Given the description of an element on the screen output the (x, y) to click on. 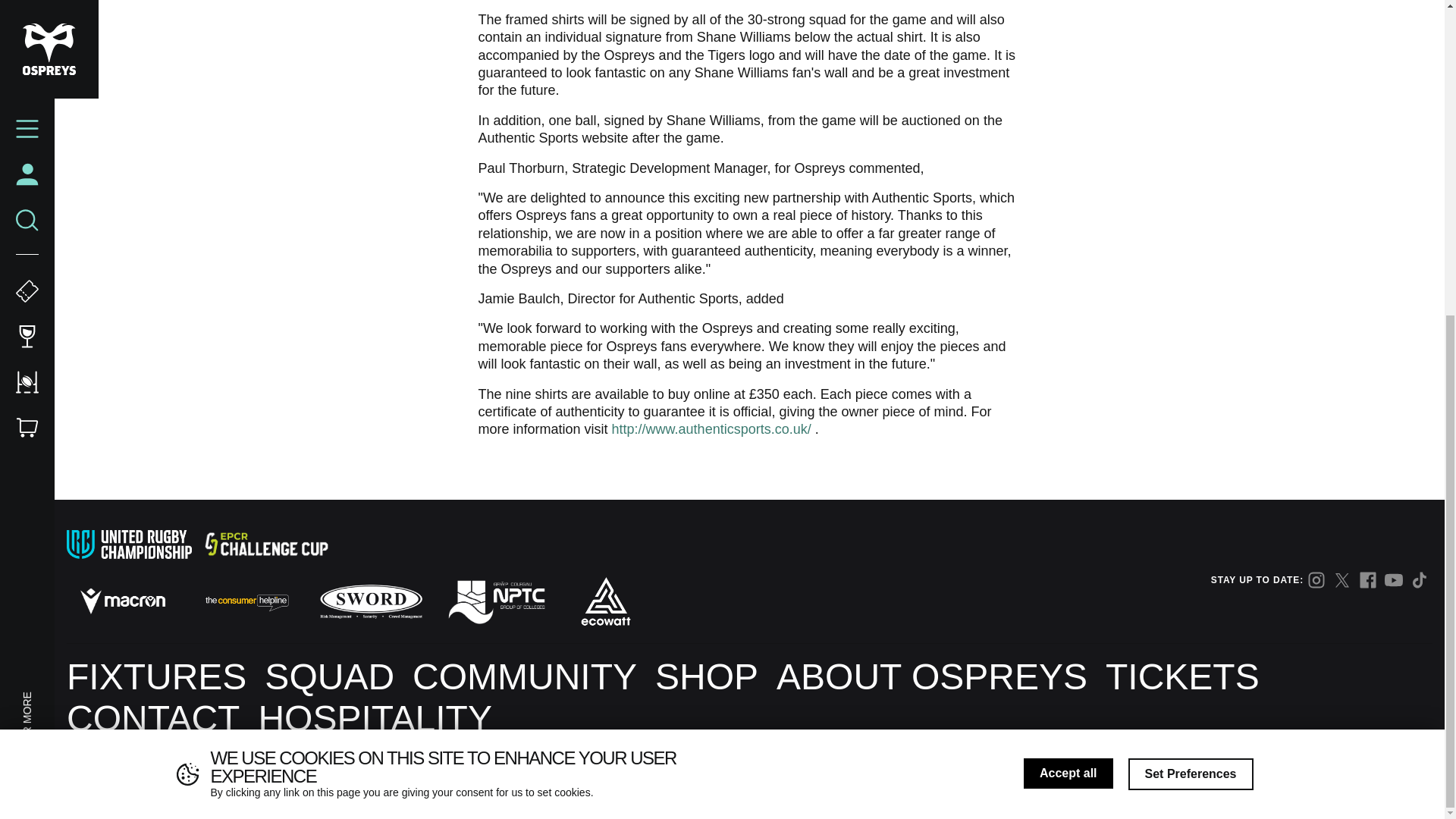
Instagram (1315, 579)
United Rugby Championship (129, 544)
NPTC (495, 600)
SCROLL FOR MORE (71, 194)
Ecowatt (605, 600)
YouTube (1393, 579)
European Challenge Cup (266, 543)
The Consumer Helpline (246, 601)
Macron (122, 601)
Facebook (1367, 579)
Sword (371, 600)
TikTok (1419, 579)
